Given the description of an element on the screen output the (x, y) to click on. 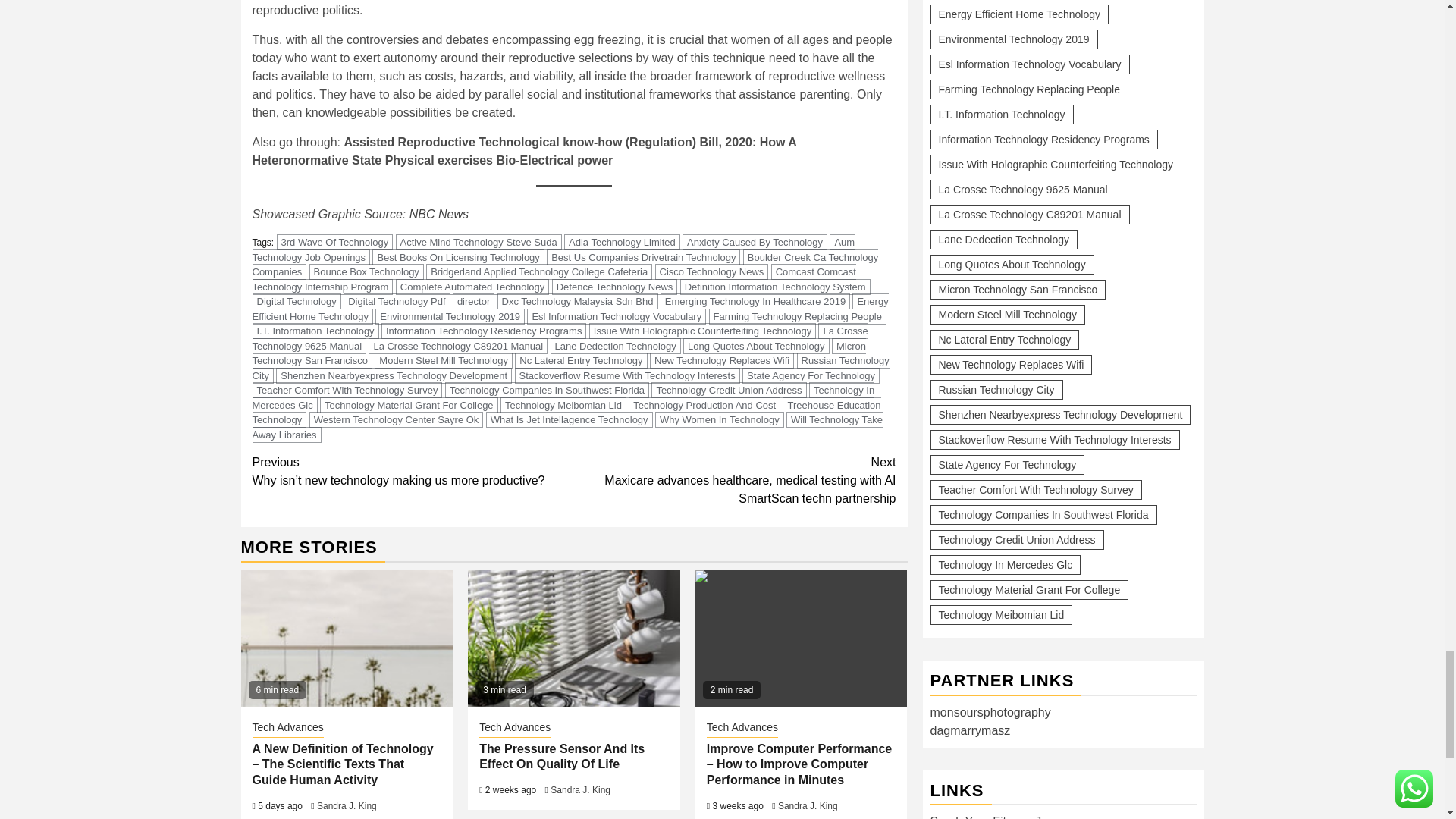
3rd Wave Of Technology (334, 242)
Active Mind Technology Steve Suda (479, 242)
NBC News (438, 214)
The Pressure Sensor And Its Effect On Quality Of Life (573, 638)
